Given the description of an element on the screen output the (x, y) to click on. 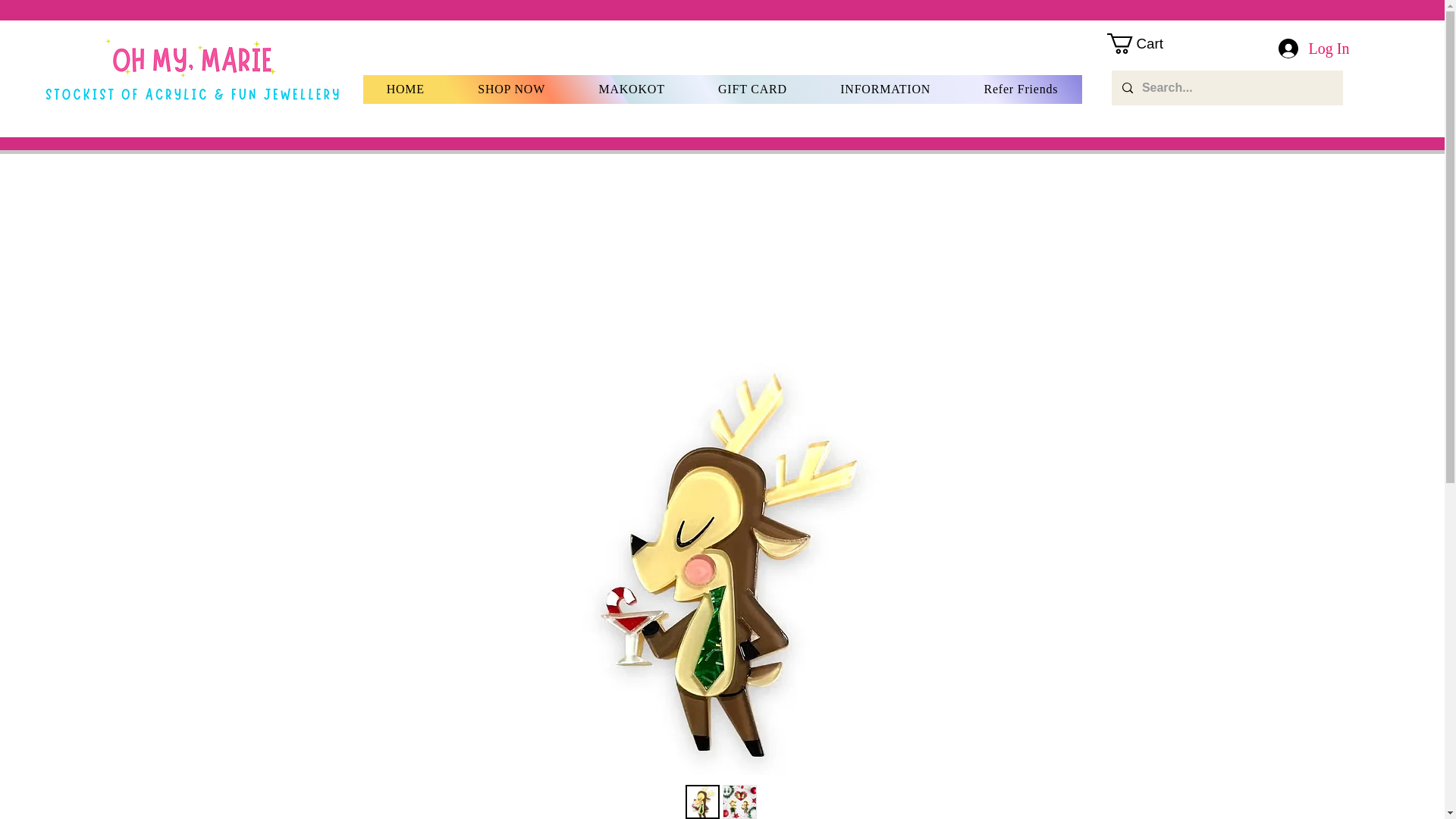
Cart (1146, 43)
SHOP NOW (511, 89)
HOME (405, 89)
Cart (1219, 119)
Refer Friends (1020, 89)
INFORMATION (884, 89)
Cart (1146, 43)
GIFT CARD (752, 89)
Log In (1313, 48)
MAKOKOT (631, 89)
Cart (1219, 119)
